Given the description of an element on the screen output the (x, y) to click on. 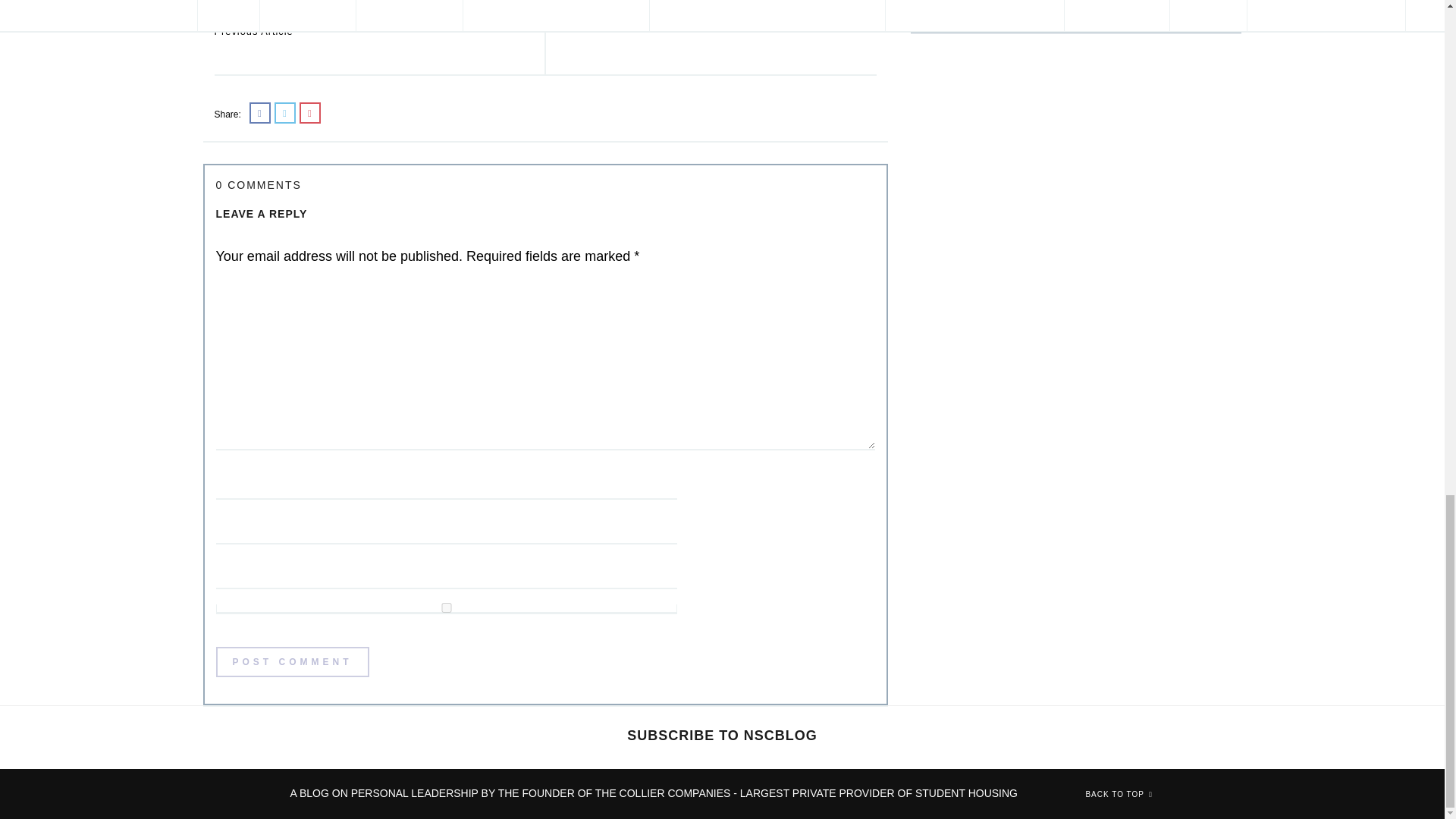
yes (446, 607)
Post Comment (291, 662)
Post Comment (716, 7)
